Given the description of an element on the screen output the (x, y) to click on. 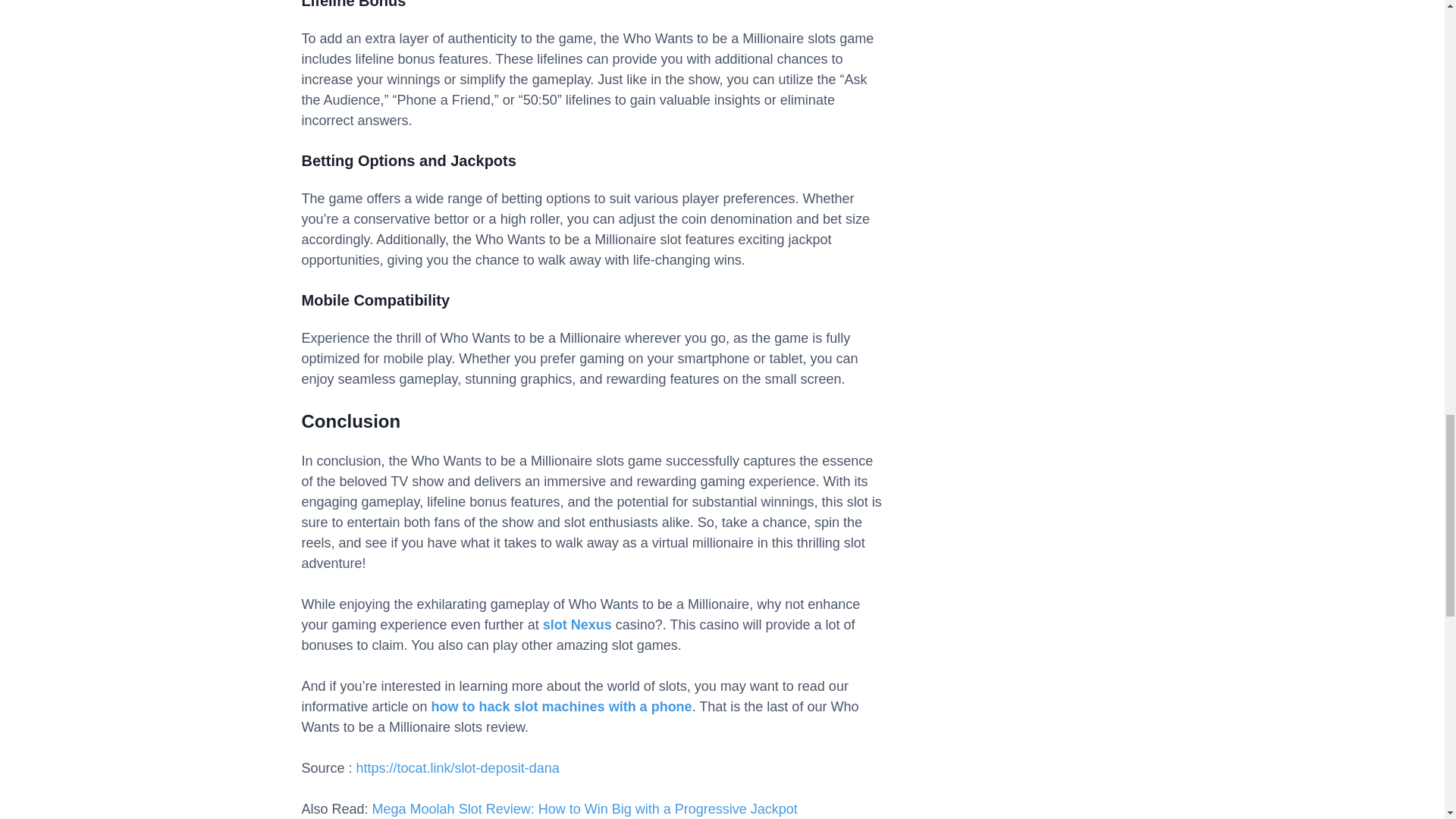
how to hack slot machines with a phone (561, 706)
slot Nexus (577, 624)
